Given the description of an element on the screen output the (x, y) to click on. 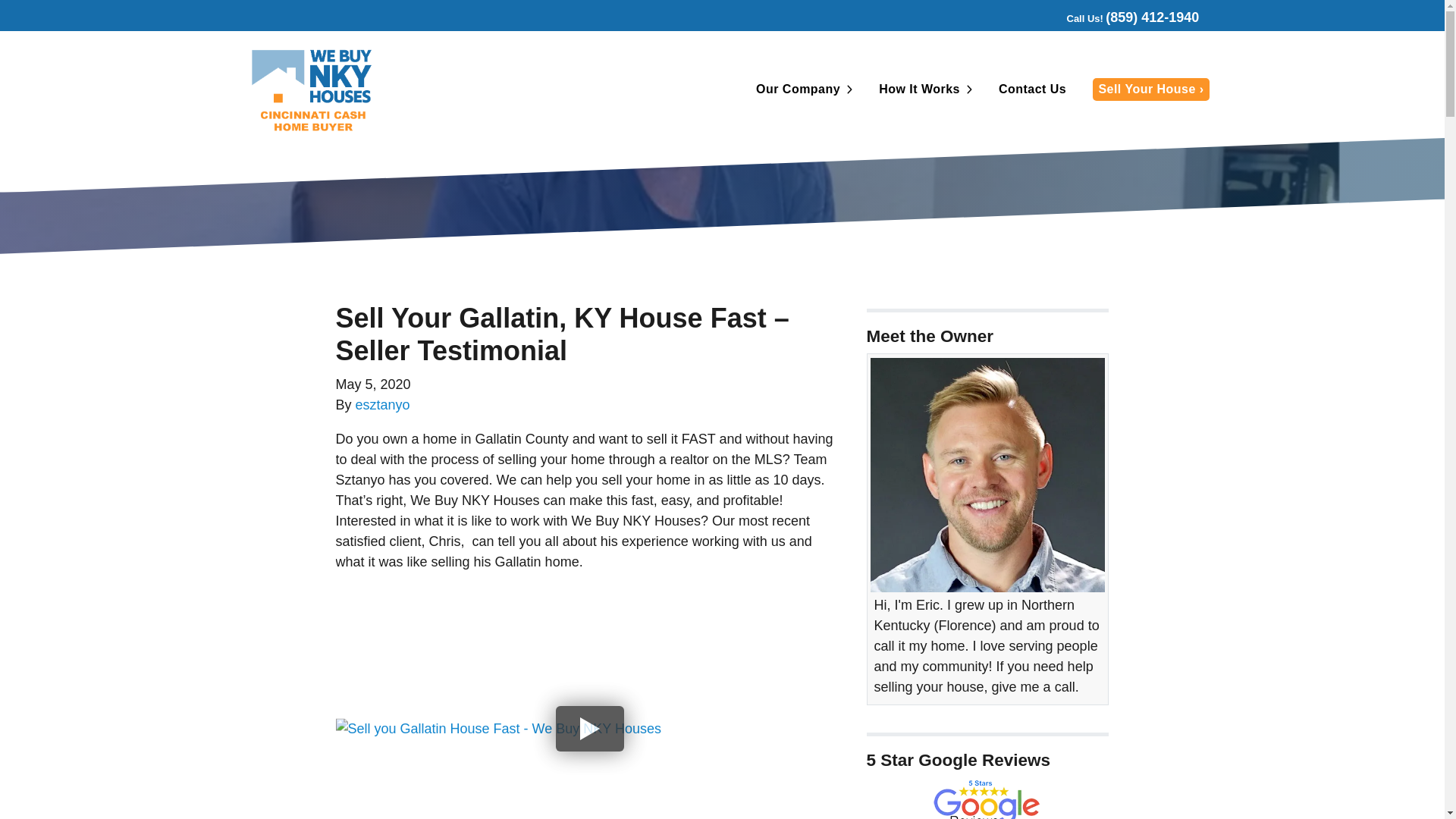
We Buy Houses In Cincinnati and Northern Kentucky (987, 798)
Contact Us (1031, 89)
Our Company (796, 89)
esztanyo (382, 404)
How It Works (917, 89)
